Given the description of an element on the screen output the (x, y) to click on. 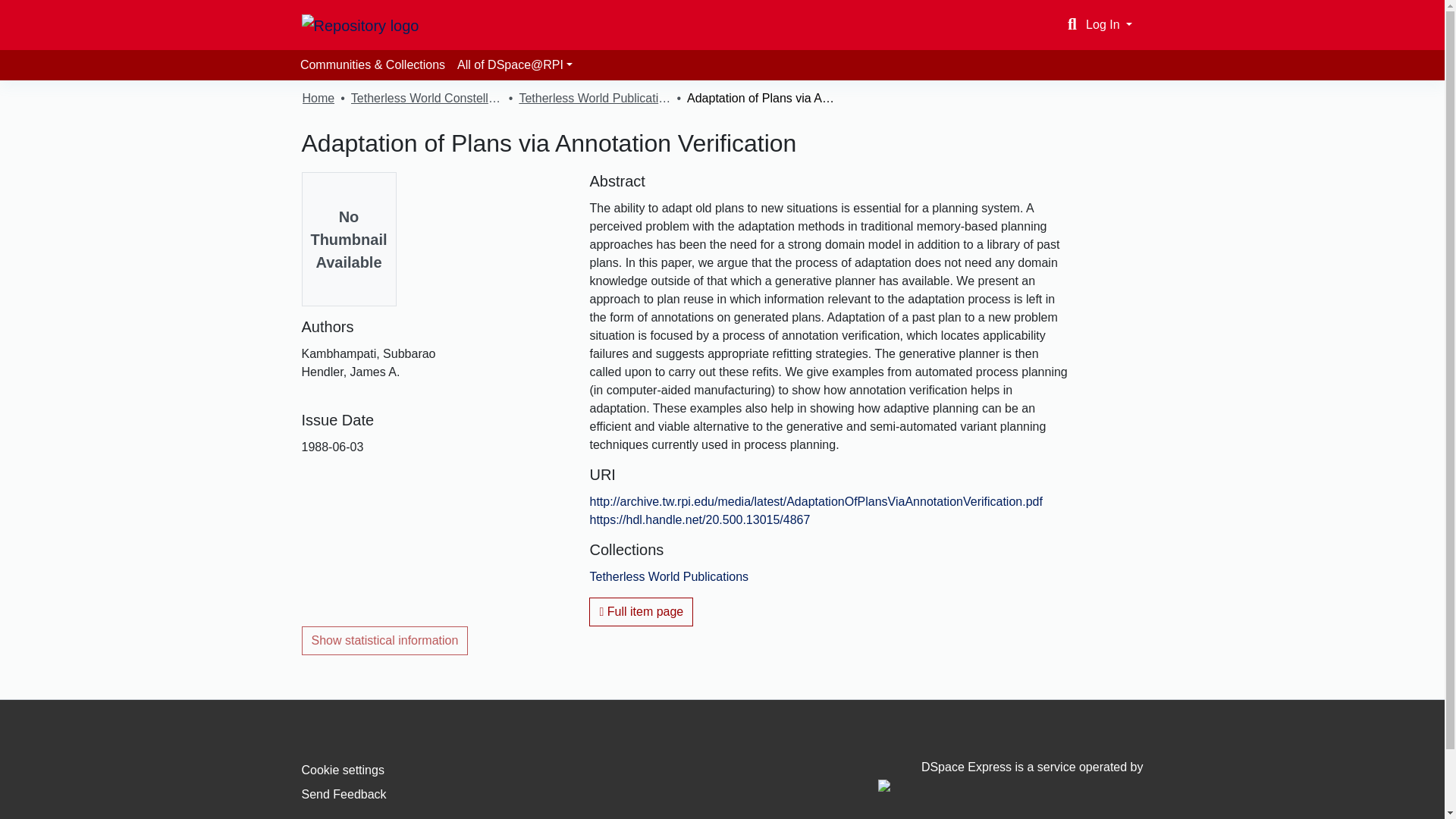
Cookie settings (342, 769)
Log In (1108, 24)
Tetherless World Publications (593, 98)
DSpace Express is a service operated by (1009, 776)
Home (317, 98)
Send Feedback (344, 793)
Tetherless World Constellation (426, 98)
Search (1072, 24)
Tetherless World Publications (668, 576)
Show statistical information (384, 640)
